Given the description of an element on the screen output the (x, y) to click on. 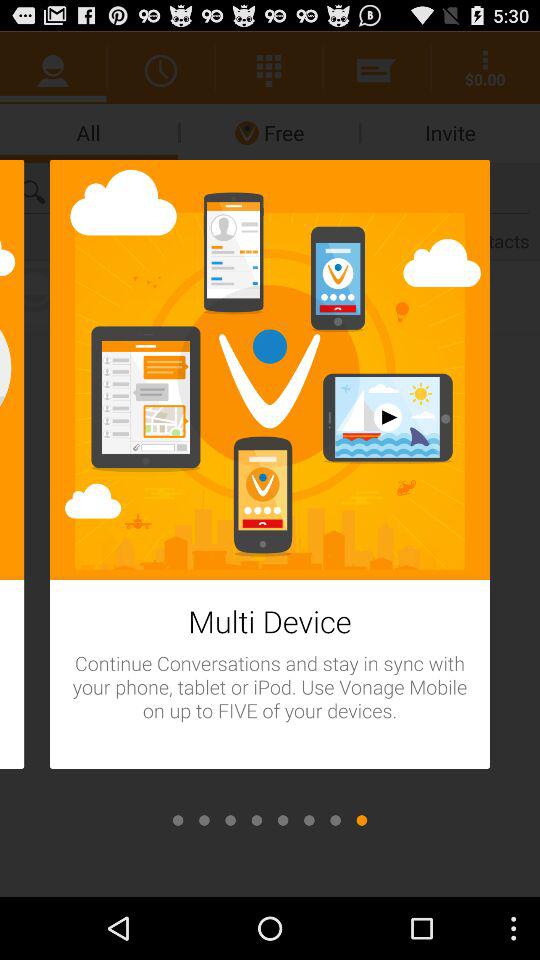
scroll to next option (178, 820)
